Given the description of an element on the screen output the (x, y) to click on. 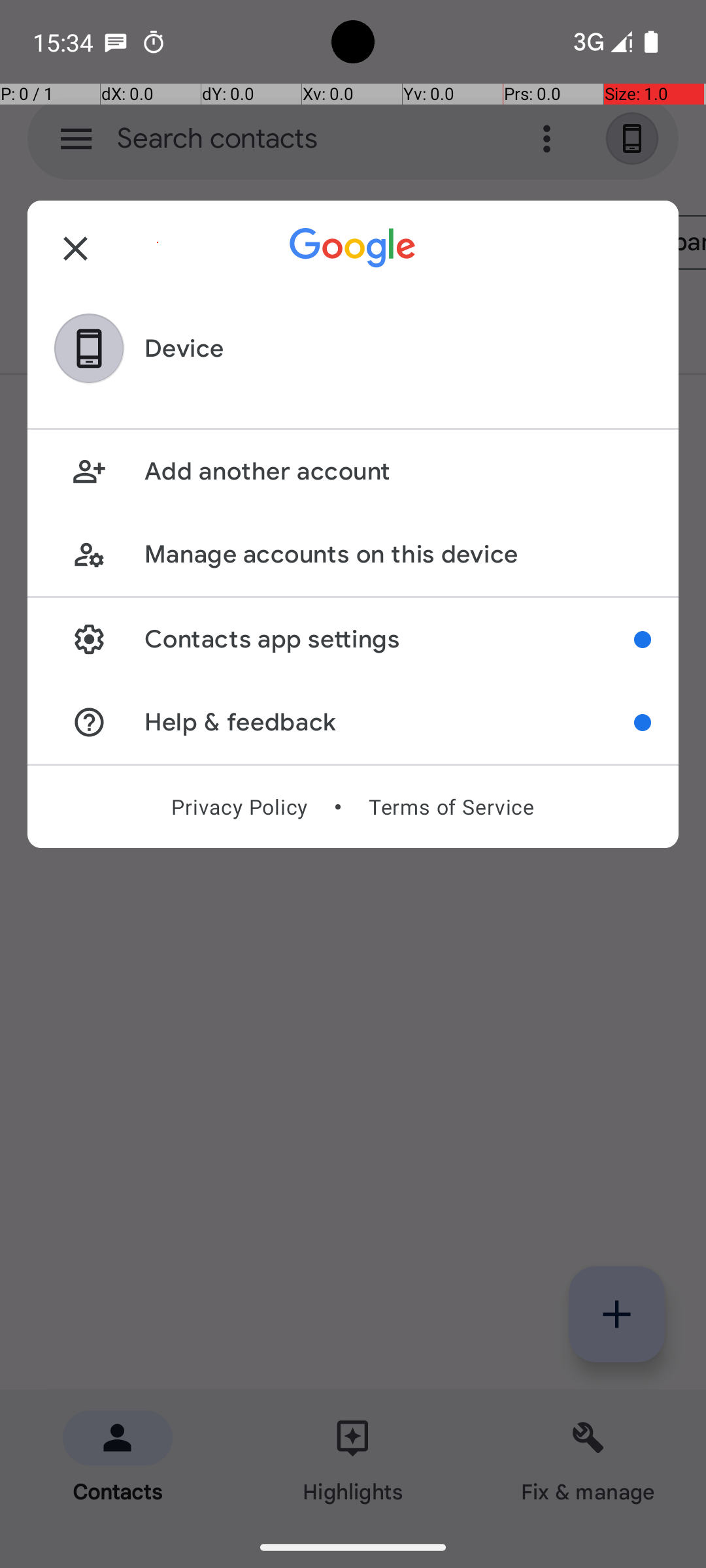
SMS Messenger notification: Freya Hernandez Element type: android.widget.ImageView (115, 41)
